Given the description of an element on the screen output the (x, y) to click on. 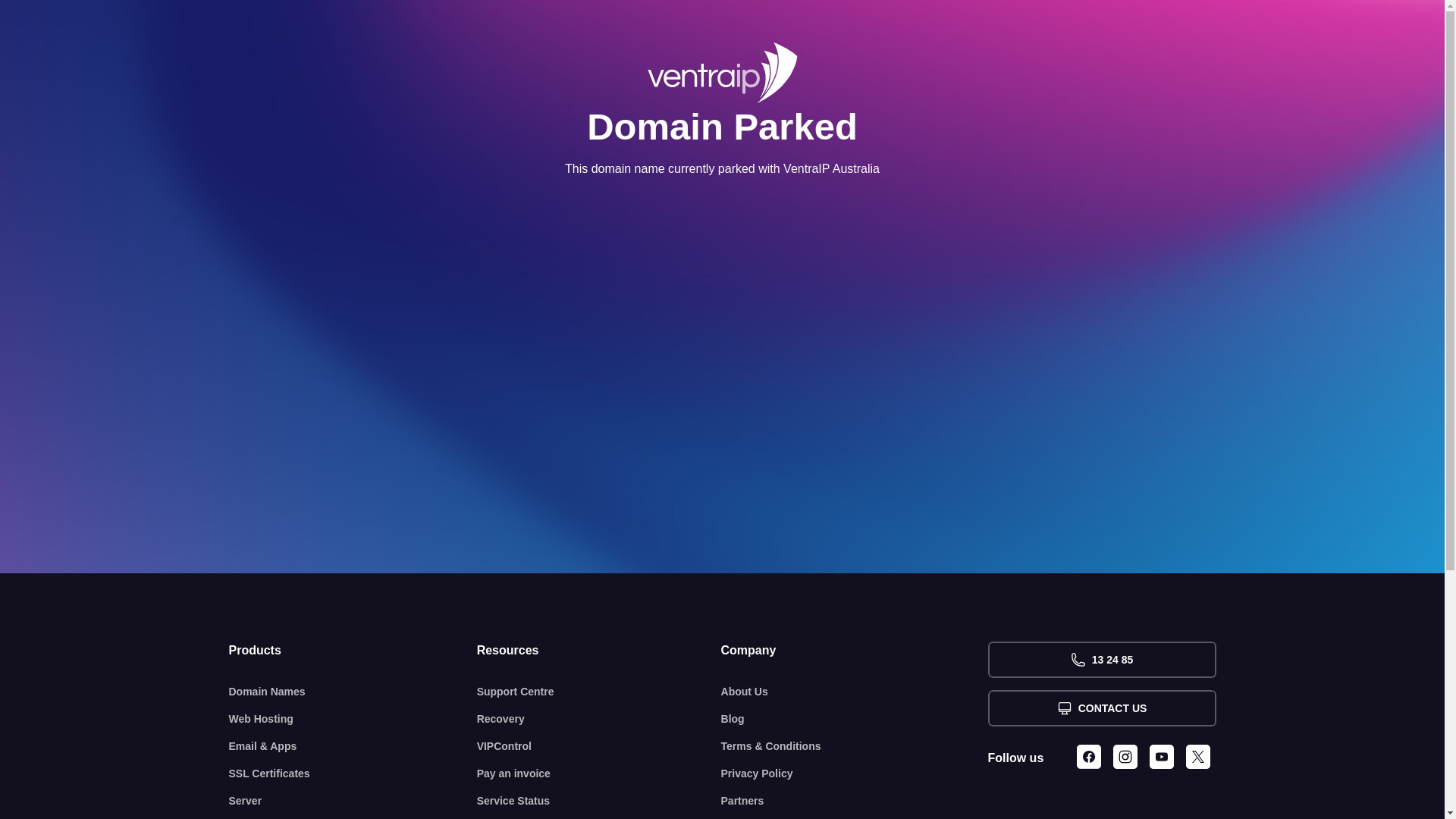
Recovery Element type: text (598, 718)
13 24 85 Element type: text (1101, 659)
Terms & Conditions Element type: text (854, 745)
VIPControl Element type: text (598, 745)
Partners Element type: text (854, 800)
Support Centre Element type: text (598, 691)
Pay an invoice Element type: text (598, 773)
About Us Element type: text (854, 691)
Server Element type: text (352, 800)
Domain Names Element type: text (352, 691)
SSL Certificates Element type: text (352, 773)
Service Status Element type: text (598, 800)
Privacy Policy Element type: text (854, 773)
Email & Apps Element type: text (352, 745)
Web Hosting Element type: text (352, 718)
Blog Element type: text (854, 718)
CONTACT US Element type: text (1101, 708)
